Given the description of an element on the screen output the (x, y) to click on. 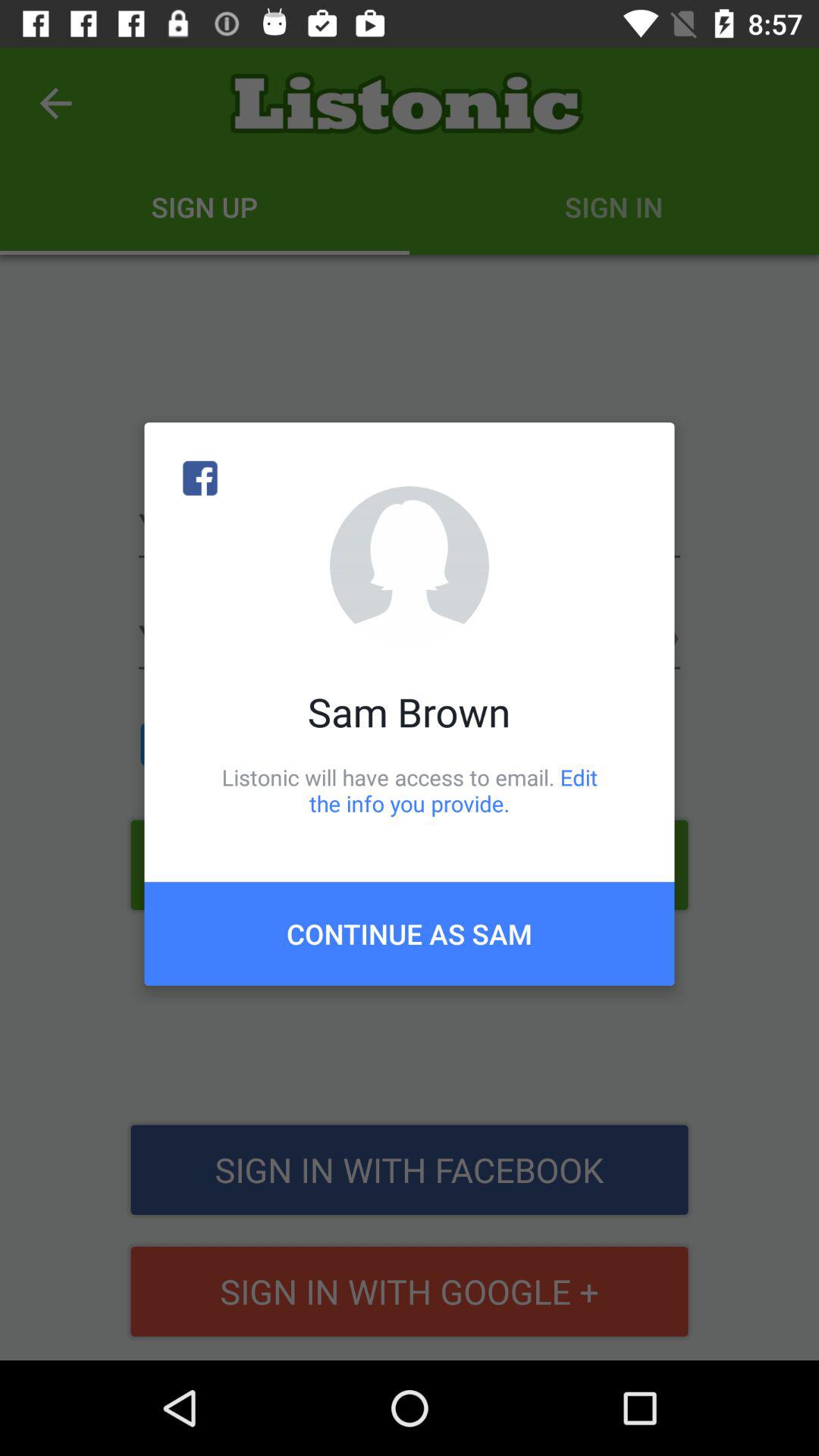
jump until the listonic will have (409, 790)
